Given the description of an element on the screen output the (x, y) to click on. 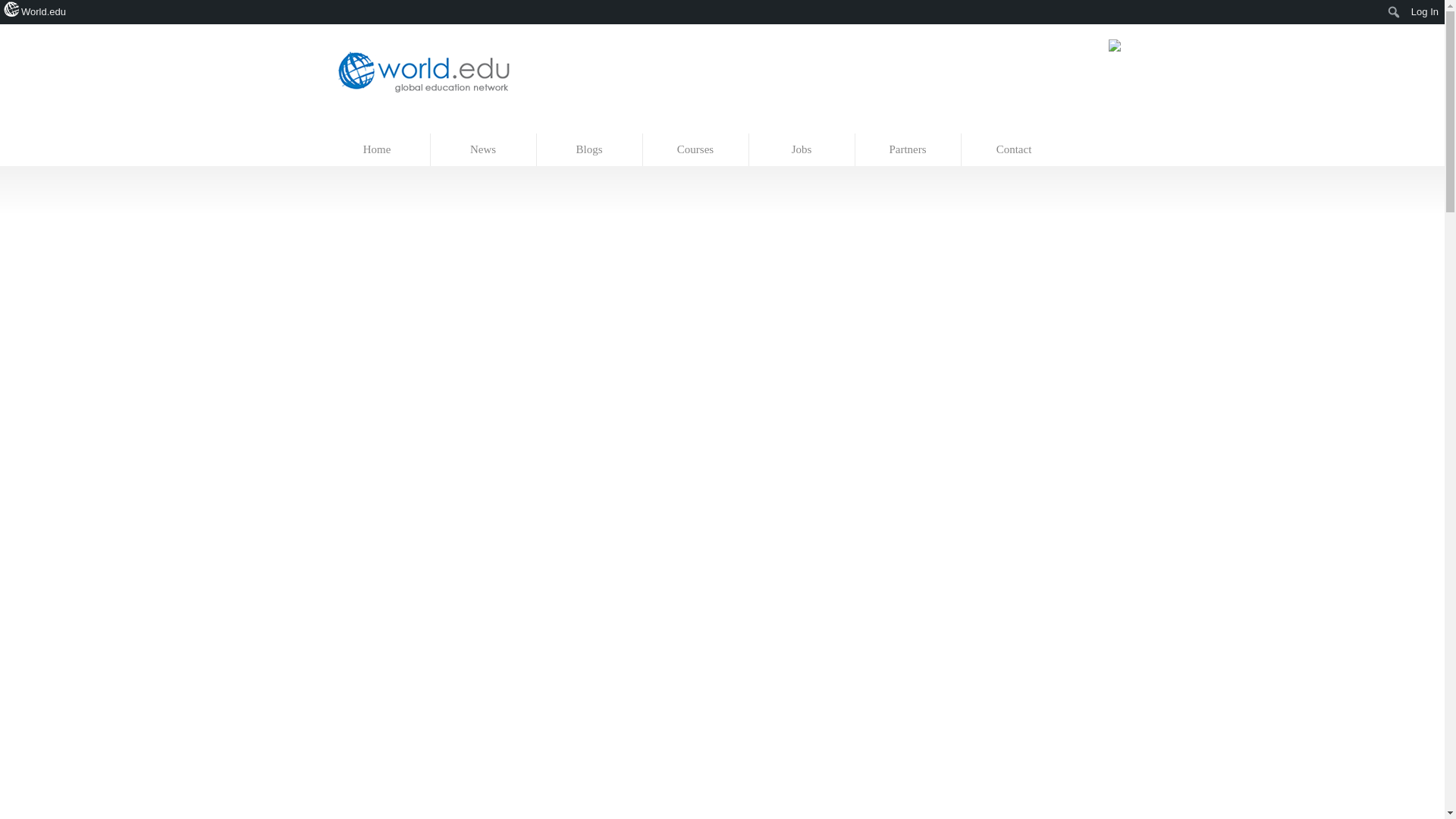
Skip to content (357, 125)
Jobs (802, 149)
Blogs (590, 149)
Courses (696, 149)
News (483, 149)
Partners (908, 149)
Skip to content (357, 125)
Contact (1013, 149)
Home (377, 149)
